Given the description of an element on the screen output the (x, y) to click on. 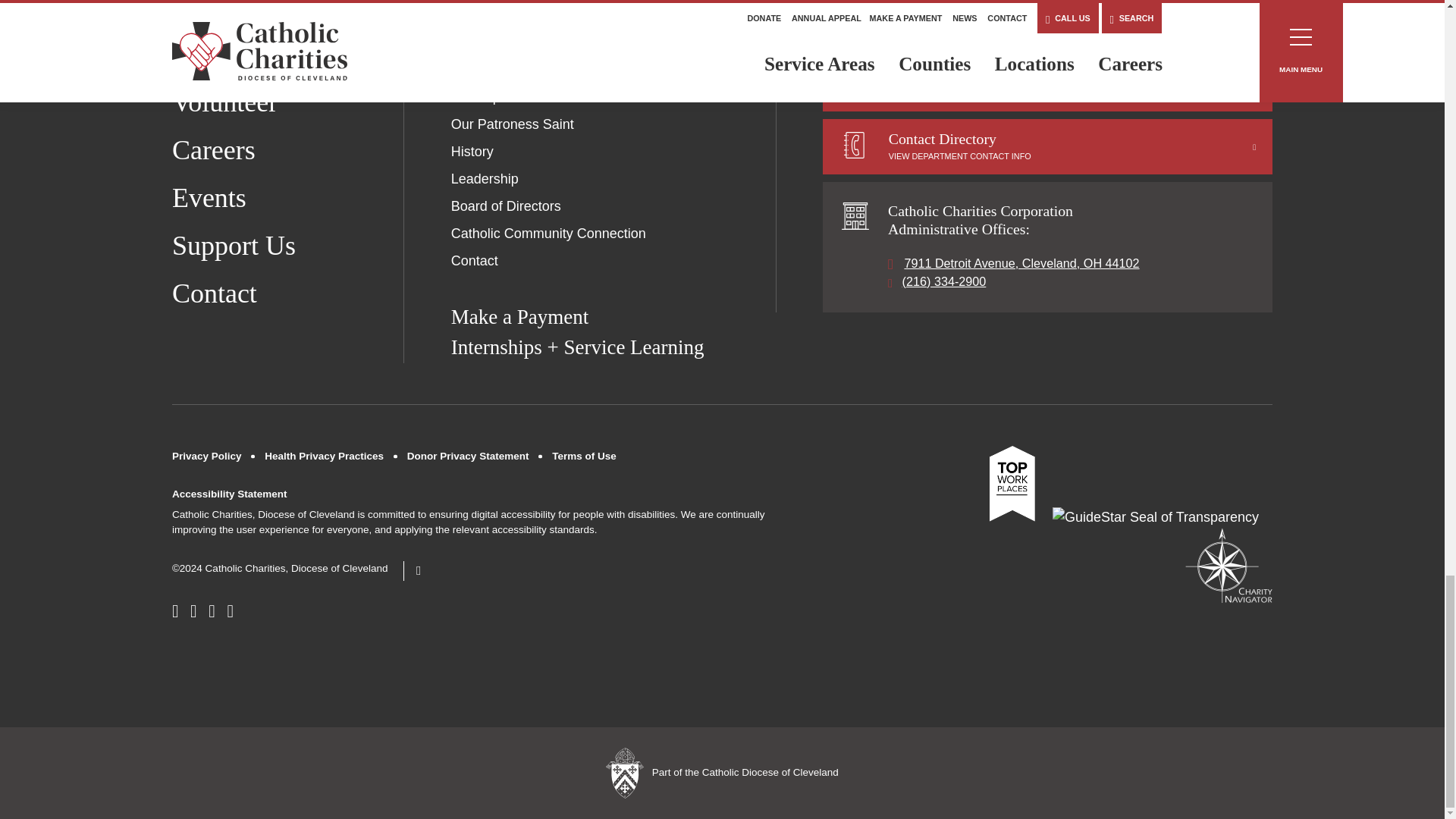
Leadership (484, 178)
Our Impact (484, 96)
Overview (479, 42)
Our Mission (487, 69)
Board of Directors (505, 206)
History (472, 151)
Our Patroness Saint (512, 124)
